Given the description of an element on the screen output the (x, y) to click on. 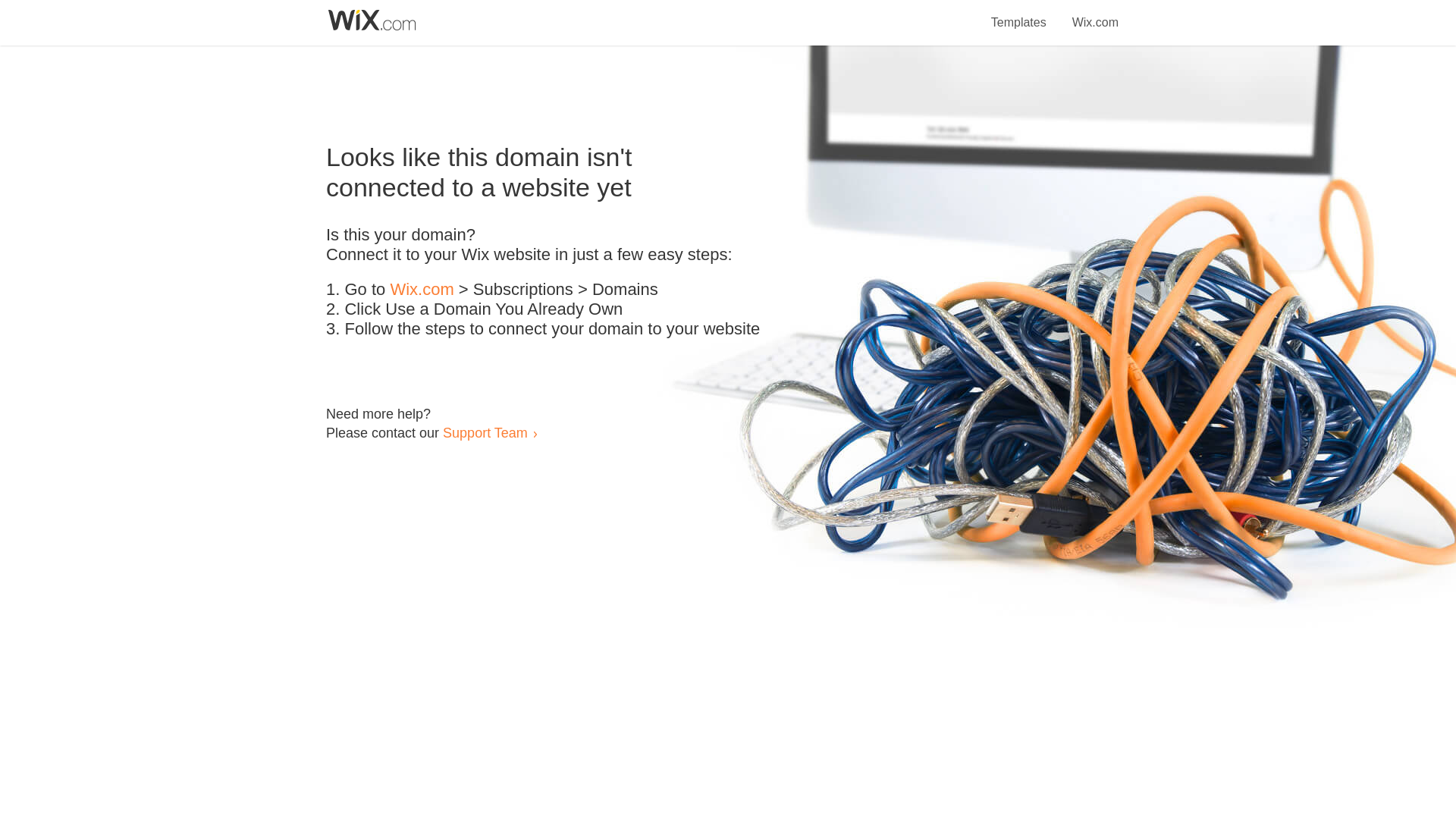
Wix.com (1095, 14)
Templates (1018, 14)
Support Team (484, 432)
Wix.com (421, 289)
